Given the description of an element on the screen output the (x, y) to click on. 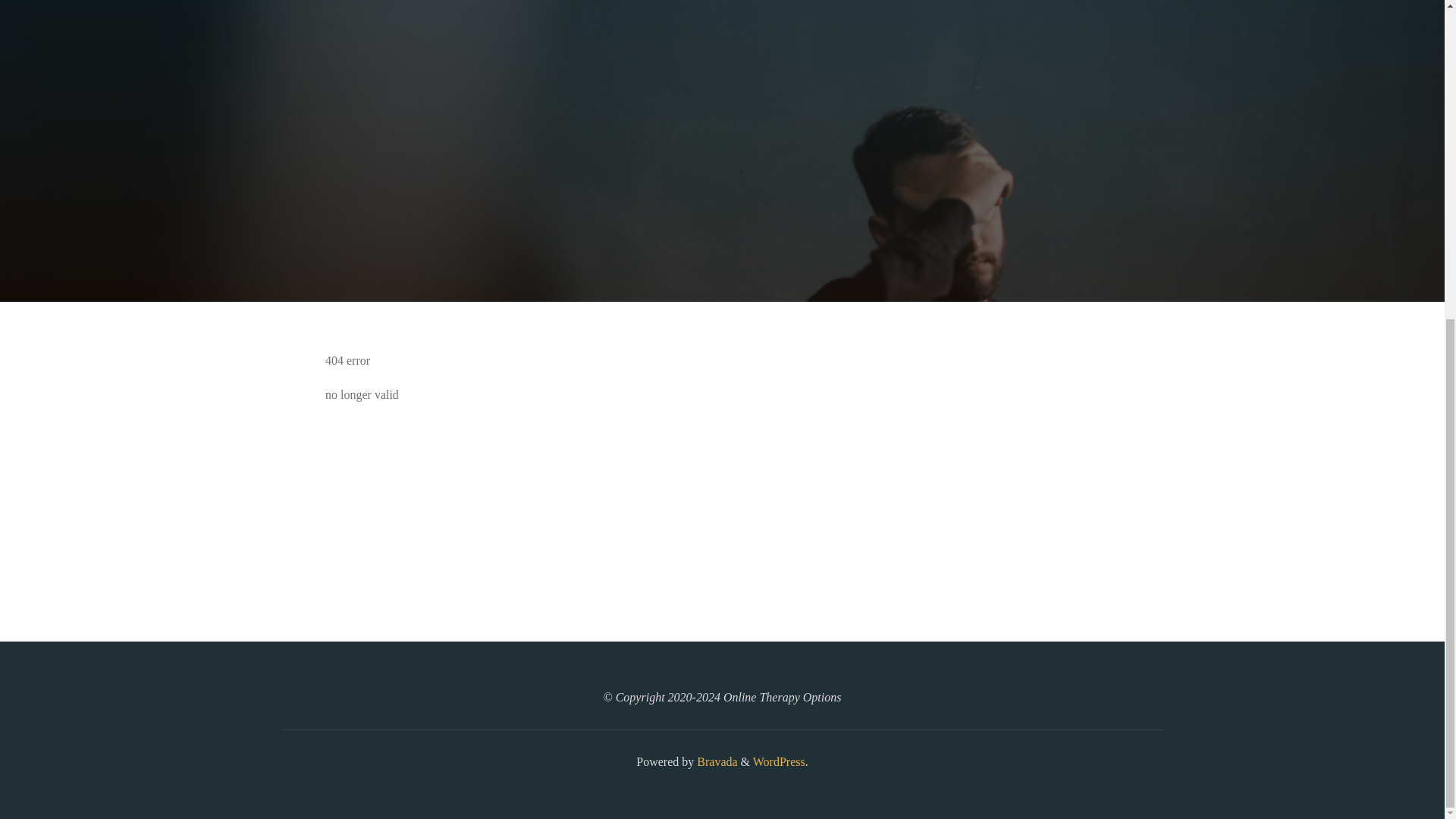
Bravada WordPress Theme by Cryout Creations (715, 761)
Semantic Personal Publishing Platform (778, 761)
WordPress (778, 761)
Read more (721, 207)
Bravada (715, 761)
